Given the description of an element on the screen output the (x, y) to click on. 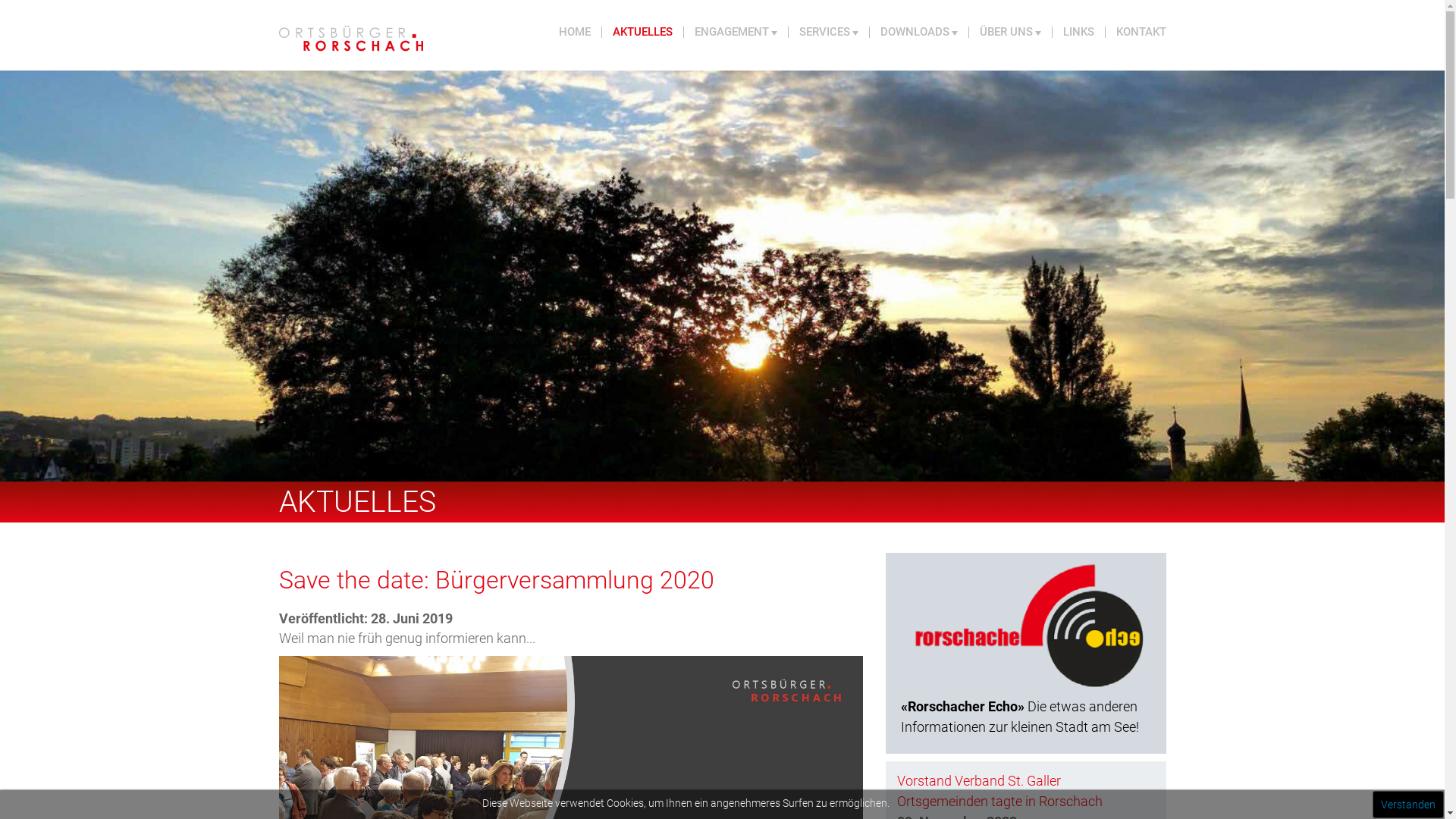
Vorstand Verband St. Galler Ortsgemeinden tagte in Rorschach Element type: text (998, 790)
ENGAGEMENT Element type: text (736, 31)
AKTUELLES Element type: text (643, 31)
SERVICES Element type: text (828, 31)
KONTAKT Element type: text (1135, 31)
HOME Element type: text (574, 31)
LINKS Element type: text (1078, 31)
Verstanden Element type: text (1407, 804)
DOWNLOADS Element type: text (918, 31)
